Given the description of an element on the screen output the (x, y) to click on. 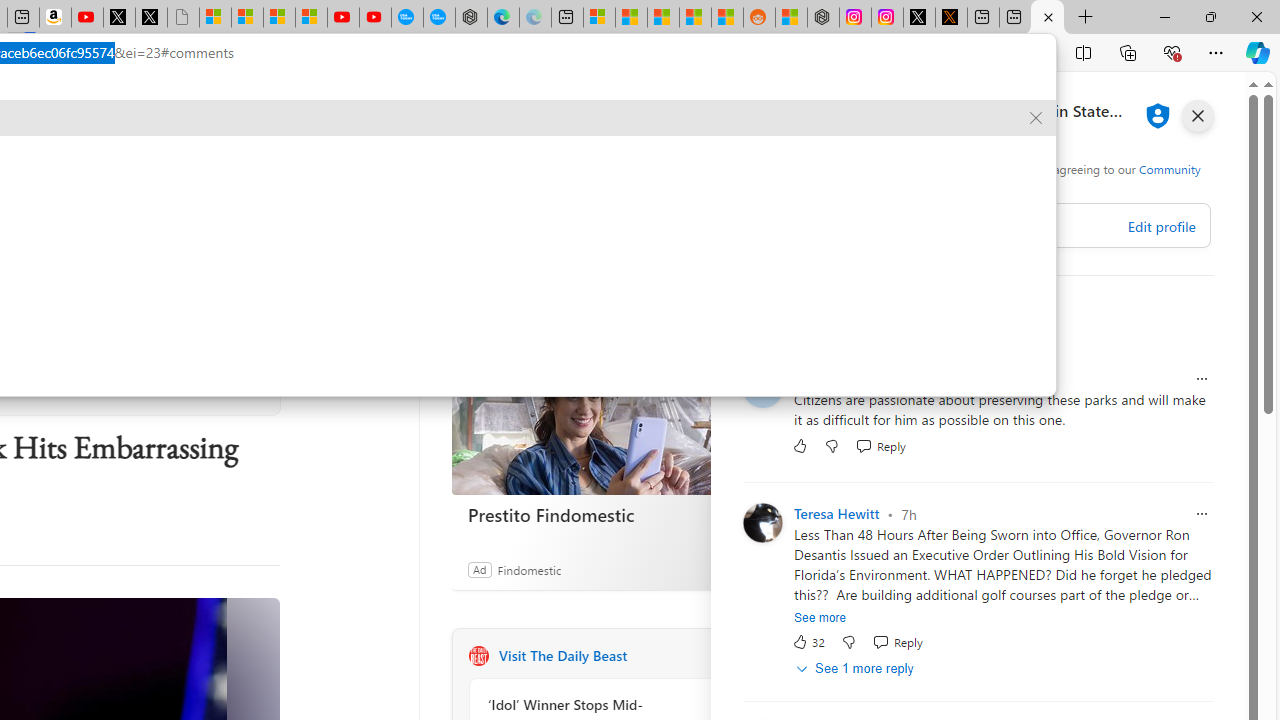
See 1 more reply (855, 668)
Ad Choice (729, 569)
Privacy & Cookies (964, 184)
To get missing image descriptions, open the context menu. (664, 162)
32 Like (808, 641)
comment-box (1003, 225)
Edit profile (1160, 226)
Microsoft rewards (1137, 105)
NCAA BK (418, 162)
WNBA (38, 162)
